Given the description of an element on the screen output the (x, y) to click on. 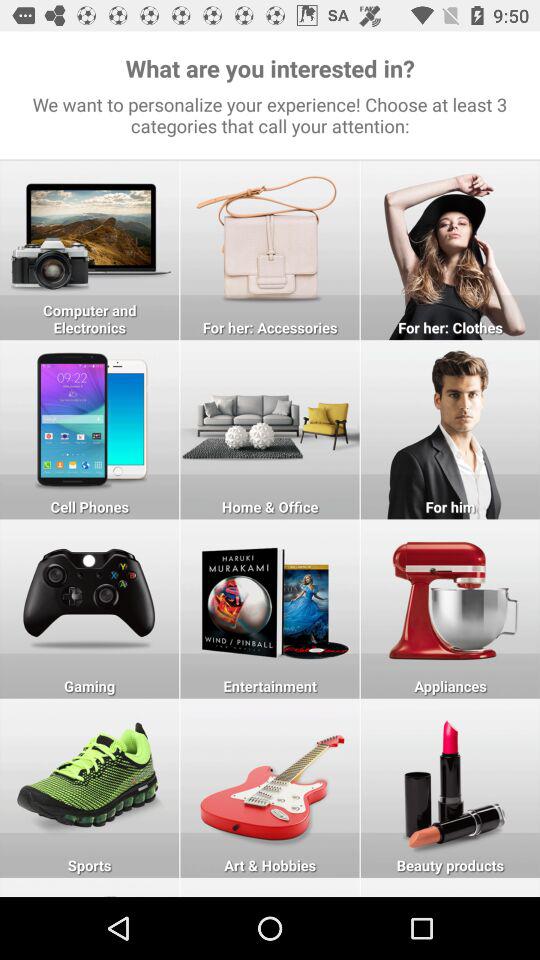
open gaming option (89, 608)
